Given the description of an element on the screen output the (x, y) to click on. 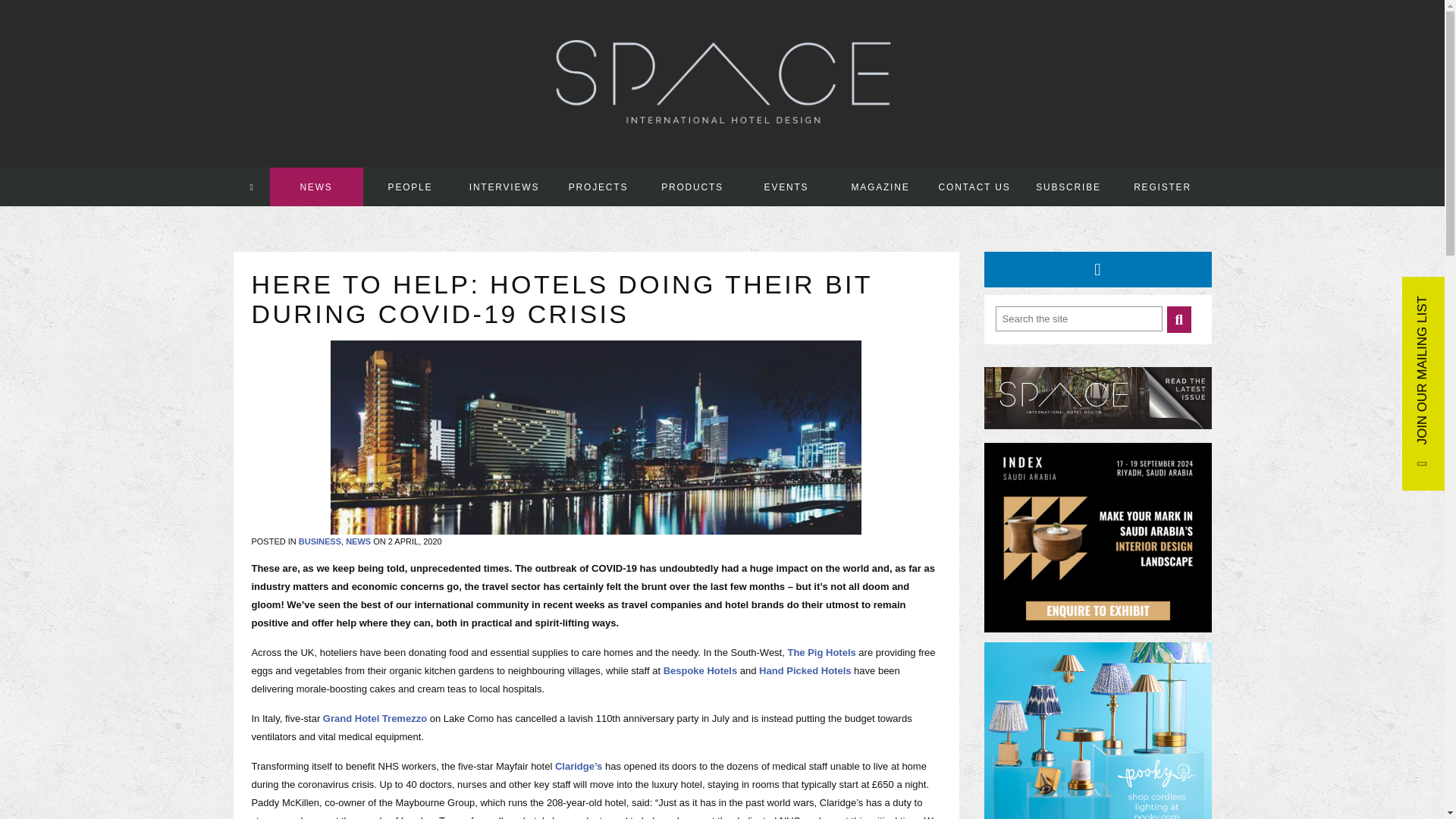
MAGAZINE (880, 186)
PEOPLE (410, 186)
EVENTS (785, 186)
INTERVIEWS (504, 186)
PRODUCTS (692, 186)
NEWS (315, 186)
PROJECTS (598, 186)
